Given the description of an element on the screen output the (x, y) to click on. 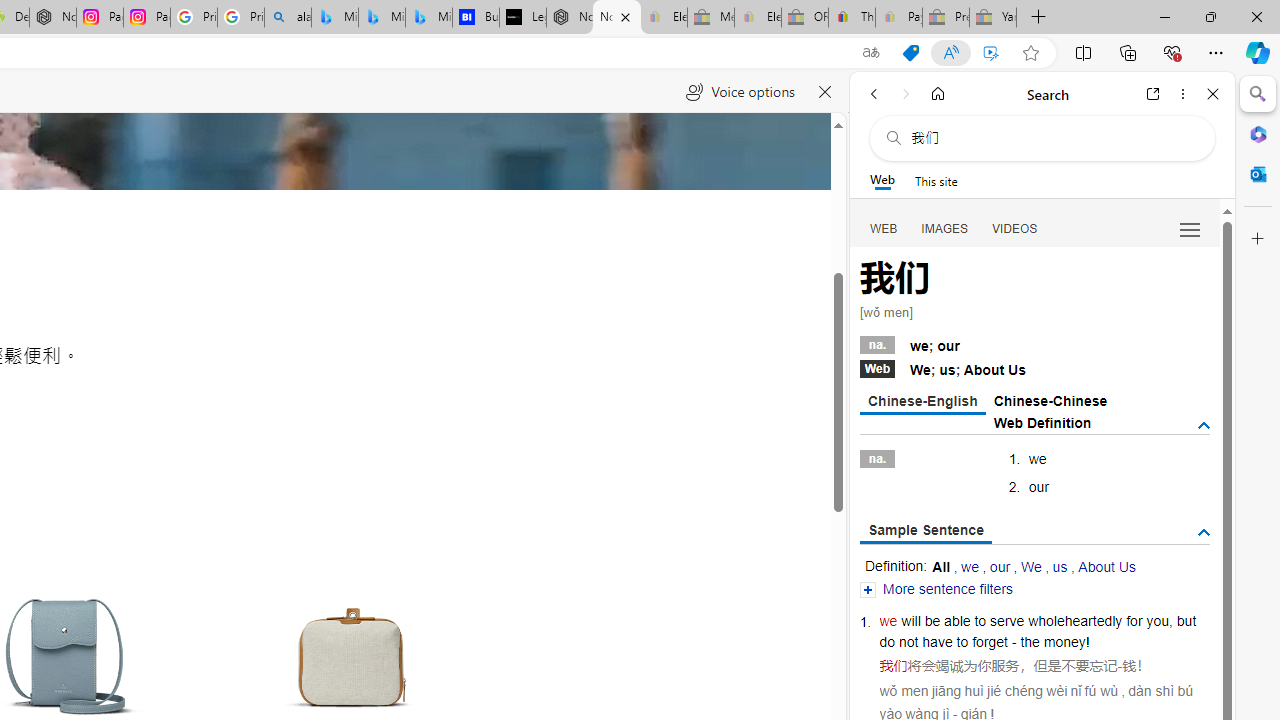
na.we; our (1034, 343)
About Us (1106, 566)
Us (1017, 370)
Voice options (740, 92)
WEB (884, 228)
